Given the description of an element on the screen output the (x, y) to click on. 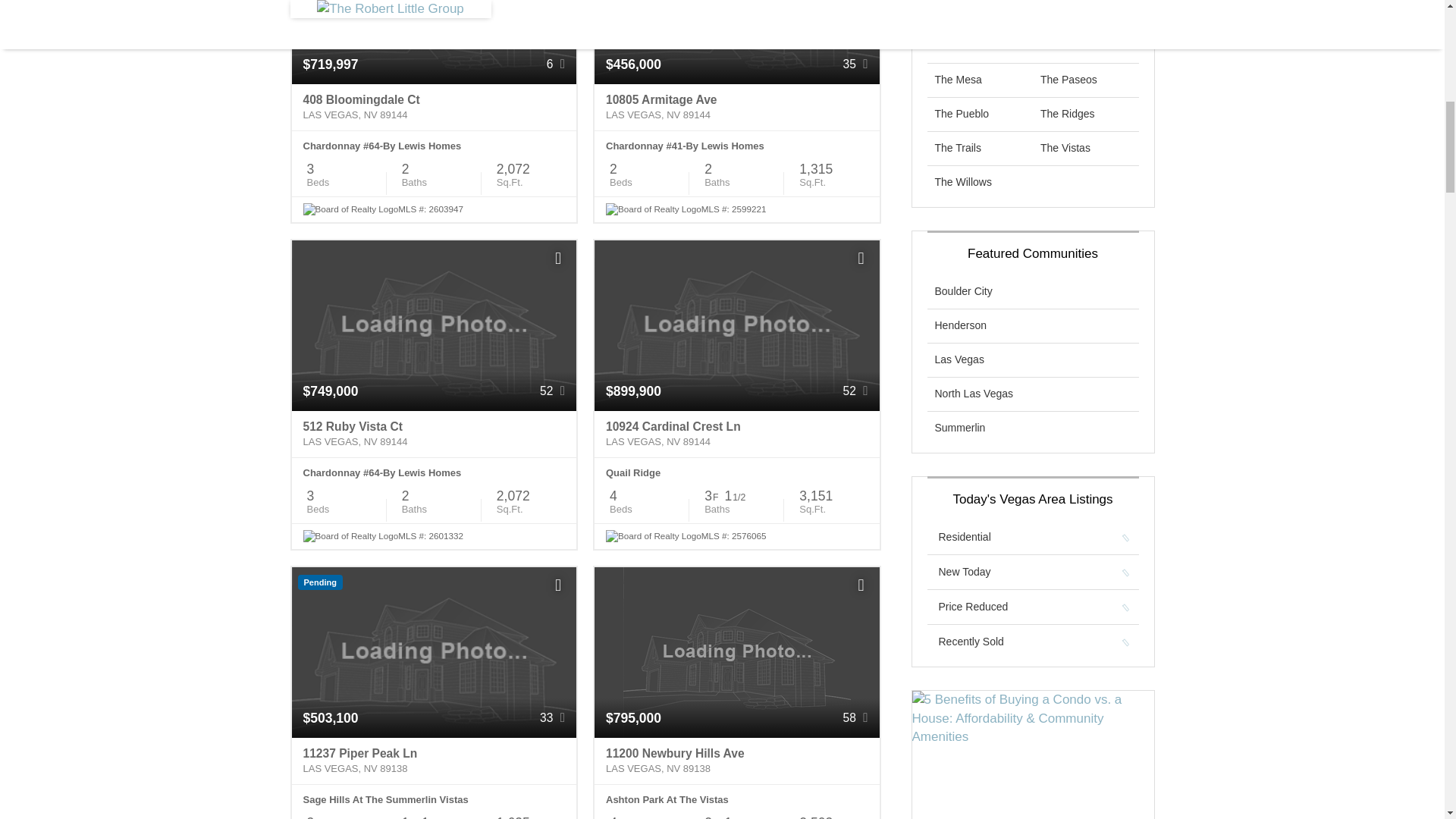
512 Ruby Vista Ct Las Vegas,  NV 89144 (433, 434)
11237 Piper Peak Ln Las Vegas,  NV 89138 (433, 760)
10805 Armitage Ave Las Vegas,  NV 89144 (736, 107)
11200 Newbury Hills Ave Las Vegas,  NV 89138 (736, 760)
10924 Cardinal Crest Ln Las Vegas,  NV 89144 (736, 434)
408 Bloomingdale Ct Las Vegas,  NV 89144 (433, 107)
